Given the description of an element on the screen output the (x, y) to click on. 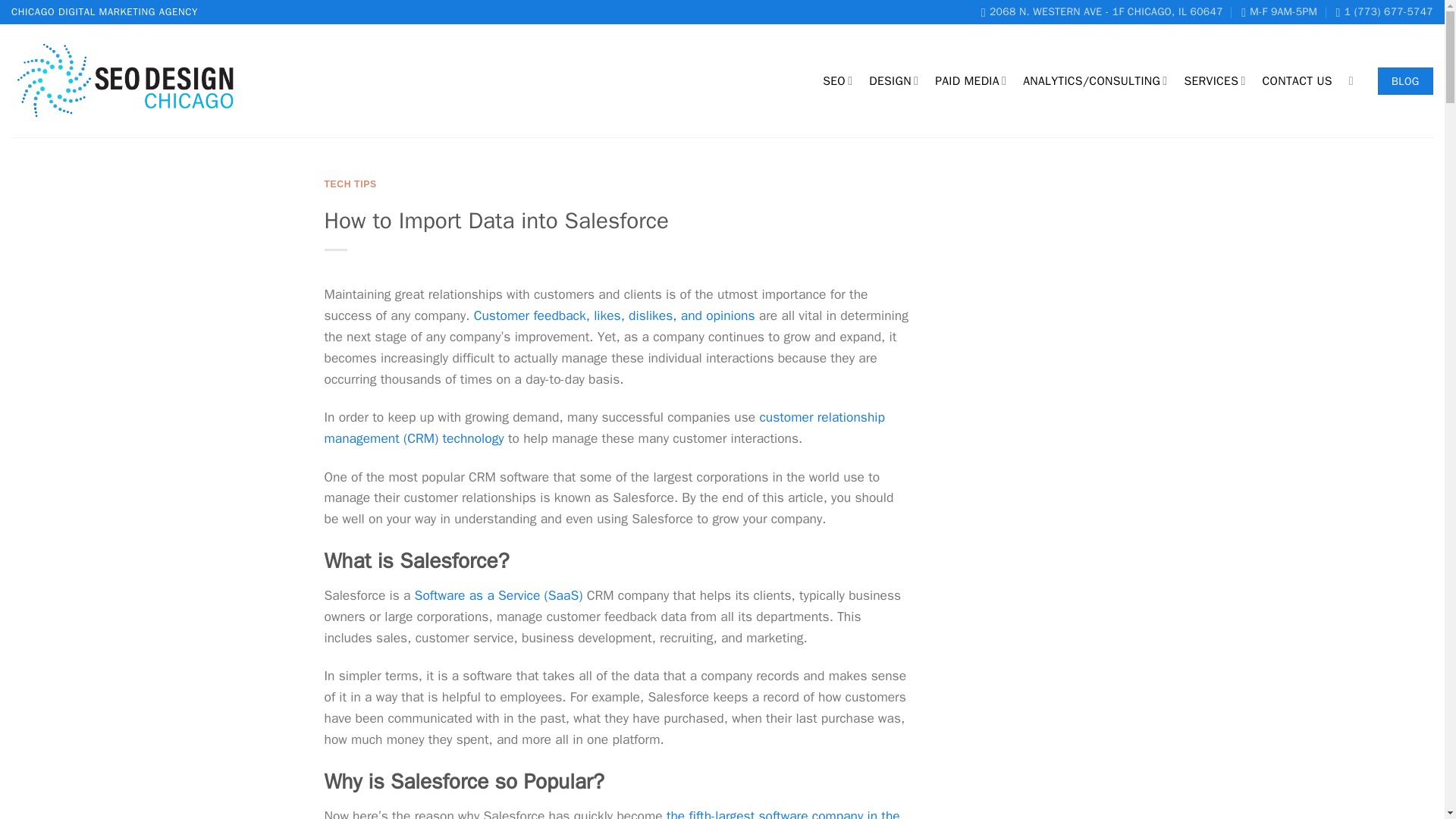
PAID MEDIA (970, 80)
M-F 9AM-5PM (1279, 12)
SEO (836, 80)
2068 N. WESTERN AVE - 1F CHICAGO, IL 60647 (1102, 12)
DESIGN (893, 80)
SEO Design Chicago (1102, 12)
SEO Design Chicago - SEO Design Chicago (127, 81)
